Given the description of an element on the screen output the (x, y) to click on. 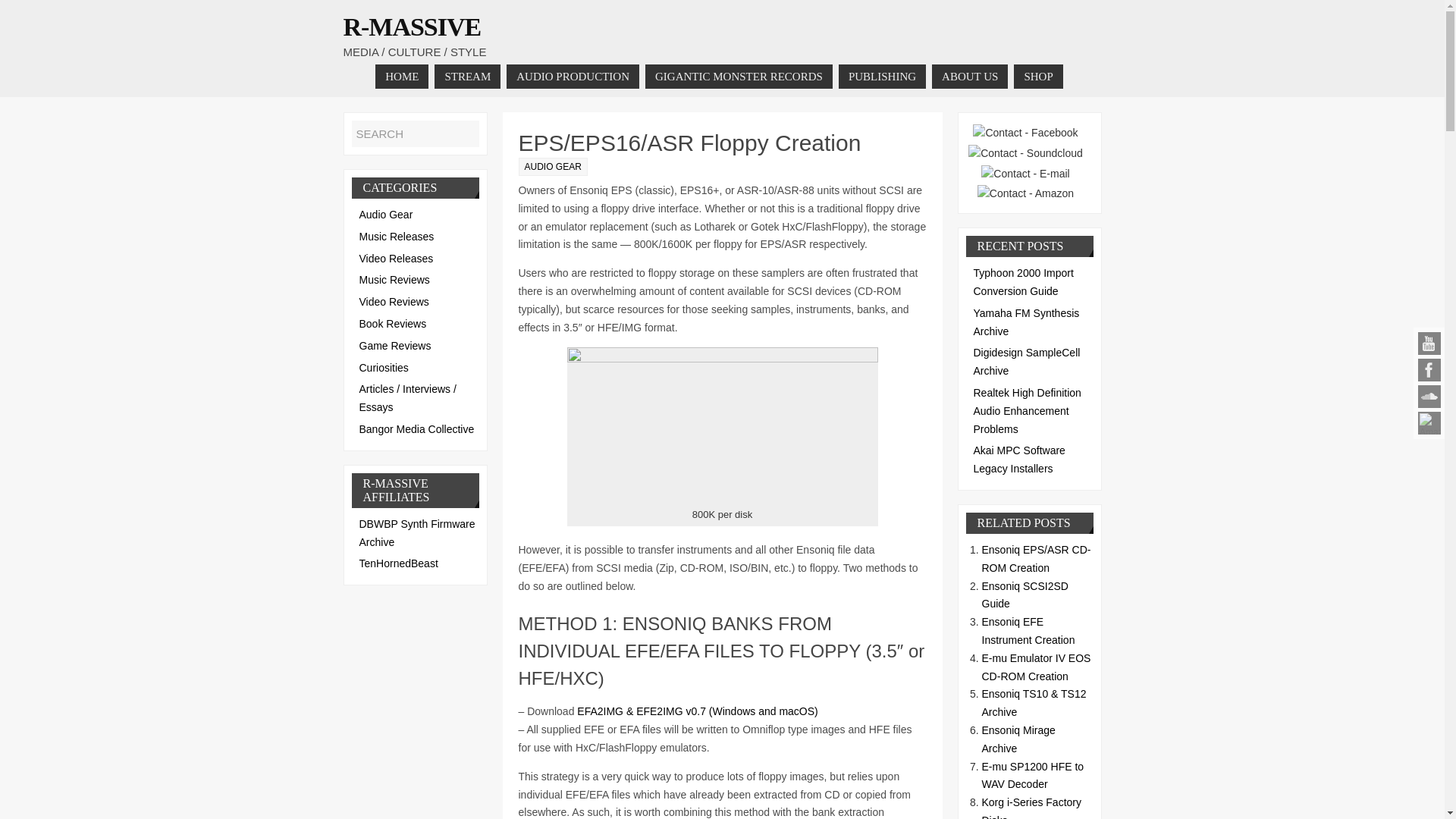
Reviews of music (394, 279)
OK (465, 133)
SoundCloud (1429, 395)
SHOP (1037, 76)
R-Massive (411, 27)
AUDIO PRODUCTION (572, 76)
Reviews of books and literature (392, 323)
PUBLISHING (882, 76)
Amazon (1429, 422)
SEARCH (415, 133)
